Given the description of an element on the screen output the (x, y) to click on. 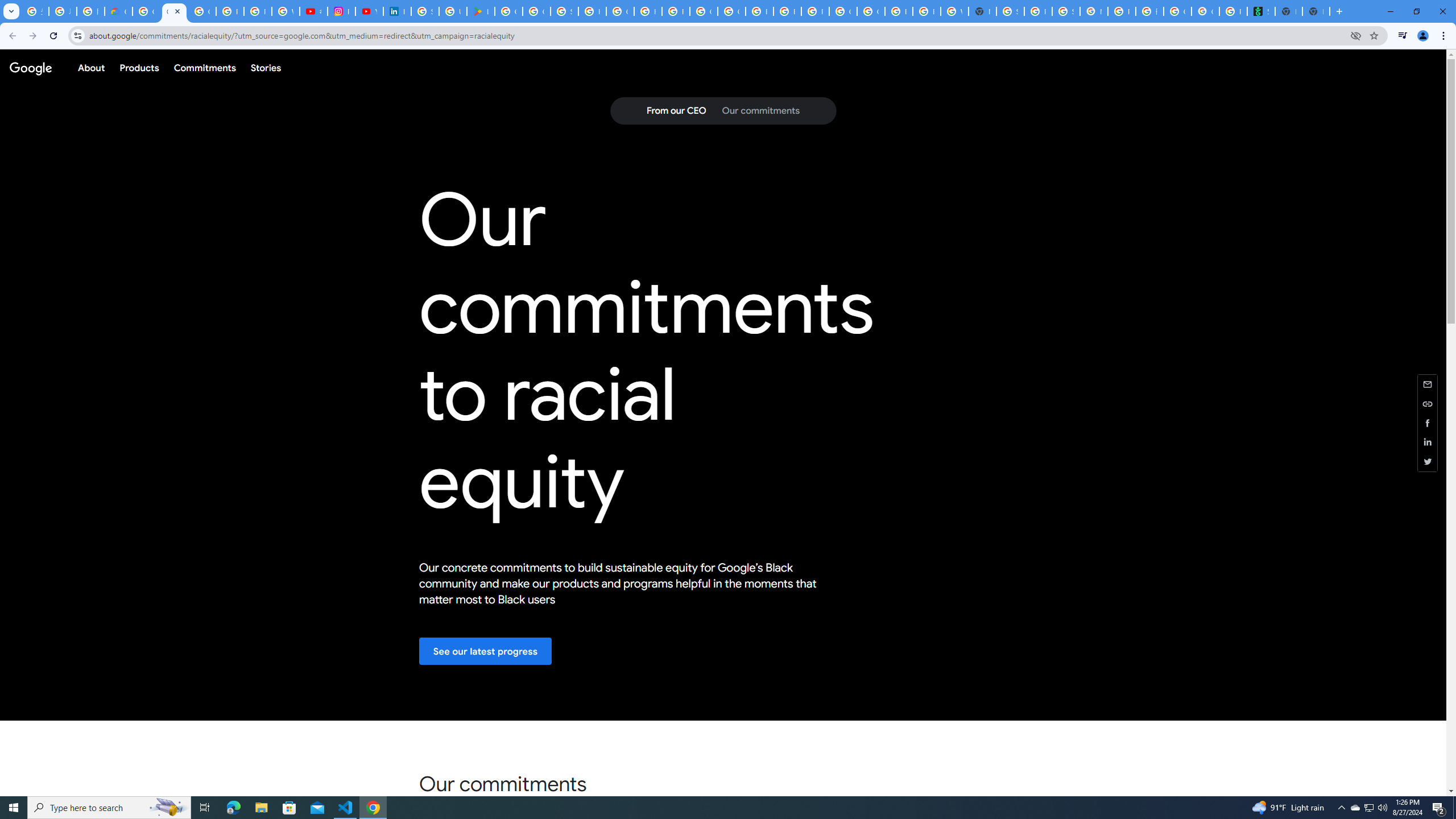
Control your music, videos, and more (1402, 35)
Share this page (Copy) (1427, 403)
How do I create a new Google Account? - Google Account Help (647, 11)
Share this page (Email) (1427, 383)
Commitments (204, 67)
Sign in - Google Accounts (1010, 11)
About (90, 67)
